Given the description of an element on the screen output the (x, y) to click on. 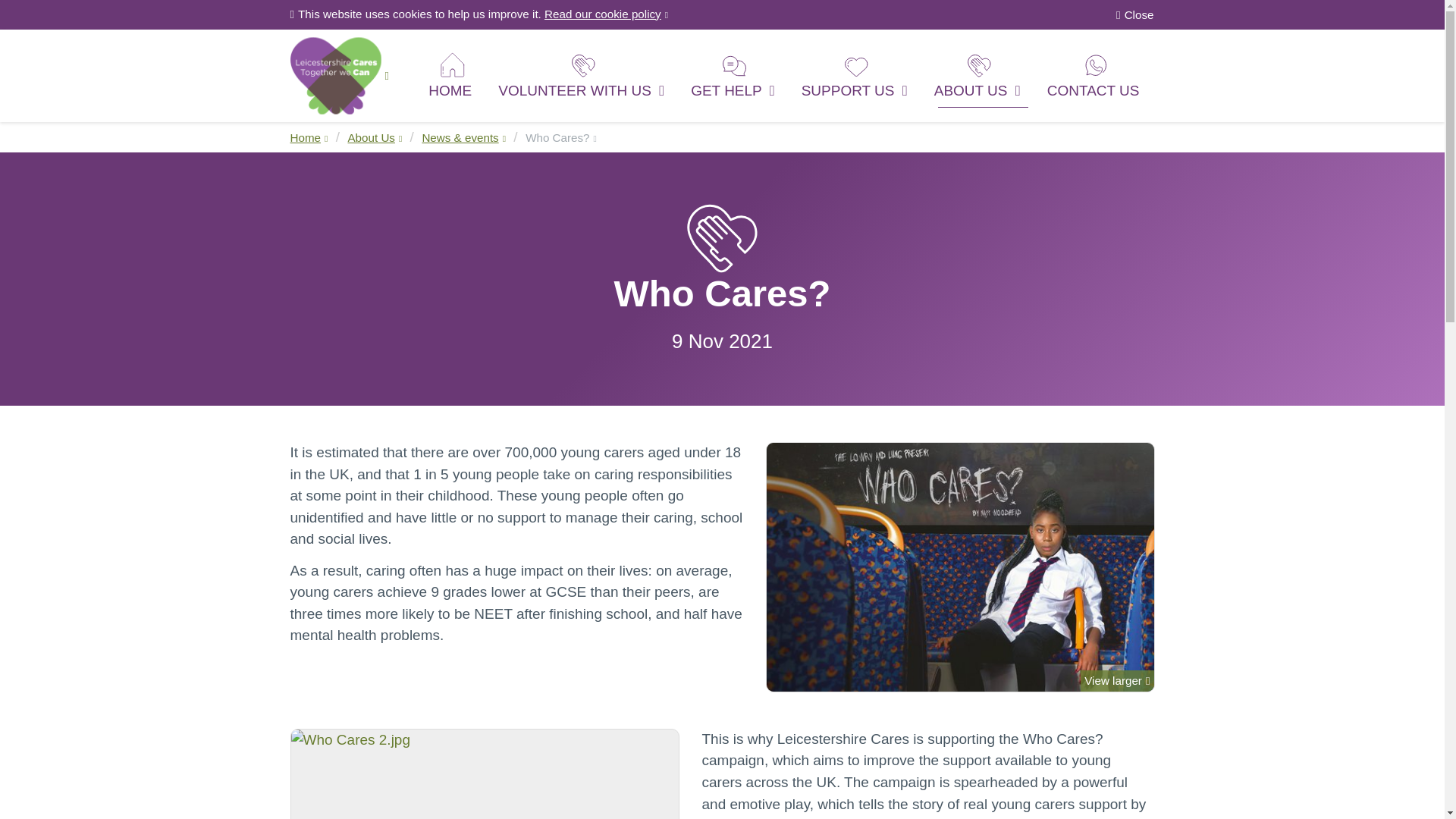
Who Cares? (560, 137)
Home (308, 137)
View larger (959, 567)
CONTACT US (1094, 74)
VOLUNTEER WITH US (582, 74)
Read our cookie policy (606, 13)
SUPPORT US (856, 74)
Go to home page (338, 74)
Close (1134, 14)
ABOUT US (979, 74)
GET HELP (734, 74)
About Us (374, 137)
